Given the description of an element on the screen output the (x, y) to click on. 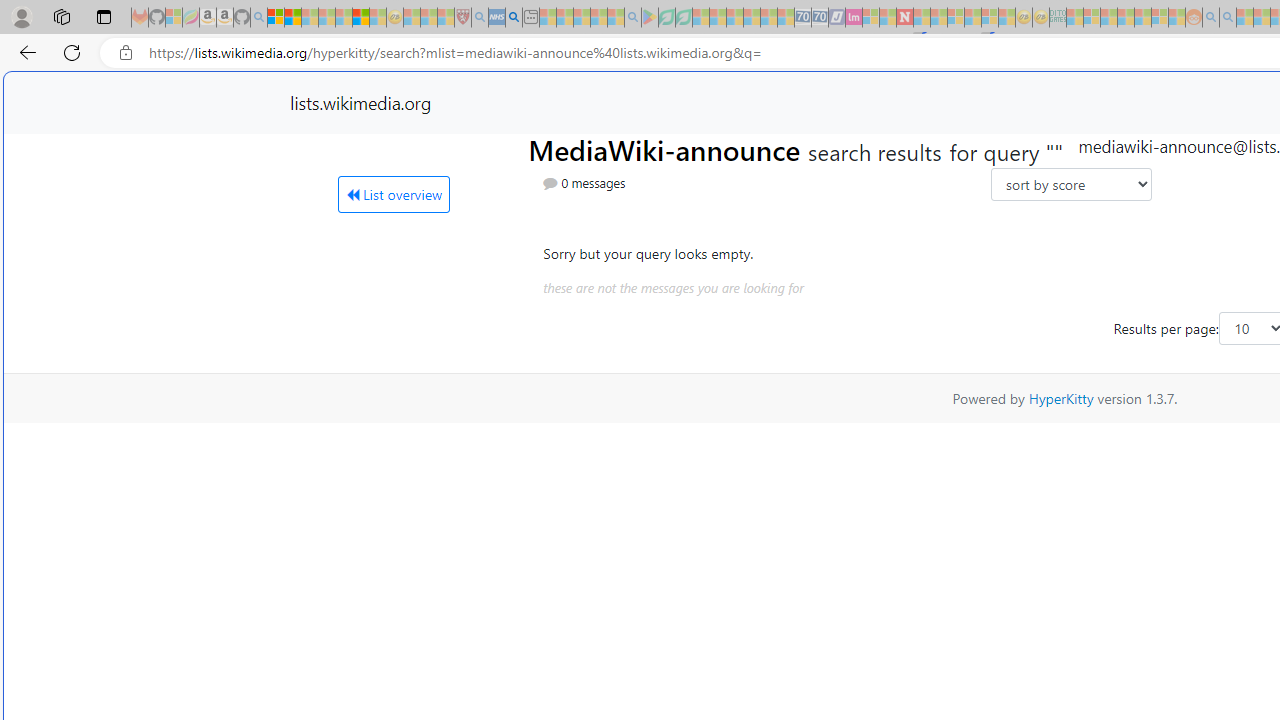
Jobs - lastminute.com Investor Portal - Sleeping (853, 17)
Expert Portfolios - Sleeping (1125, 17)
utah sues federal government - Search (513, 17)
Pets - MSN - Sleeping (598, 17)
